Given the description of an element on the screen output the (x, y) to click on. 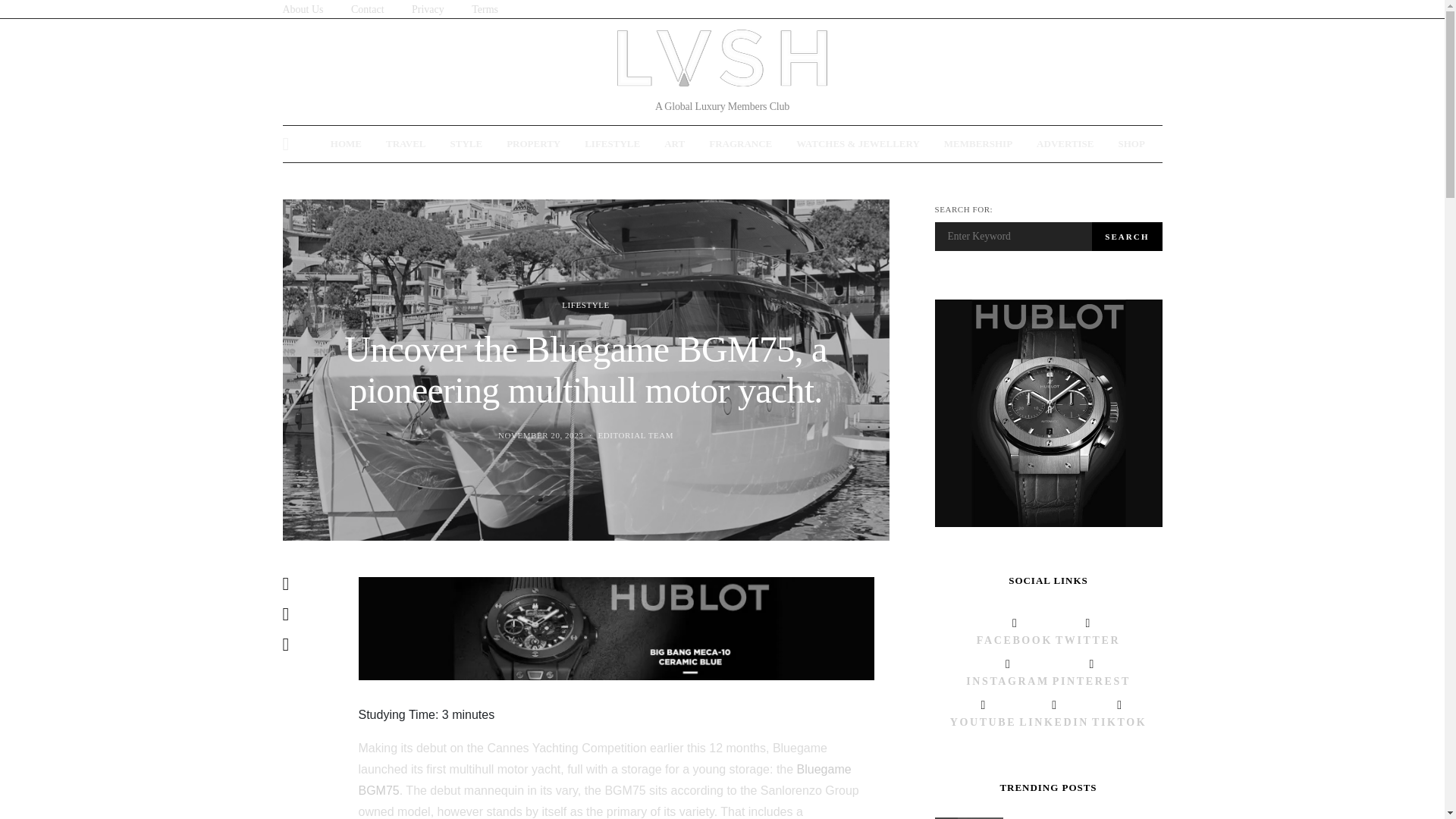
View all posts by Editorial Team (635, 434)
